Given the description of an element on the screen output the (x, y) to click on. 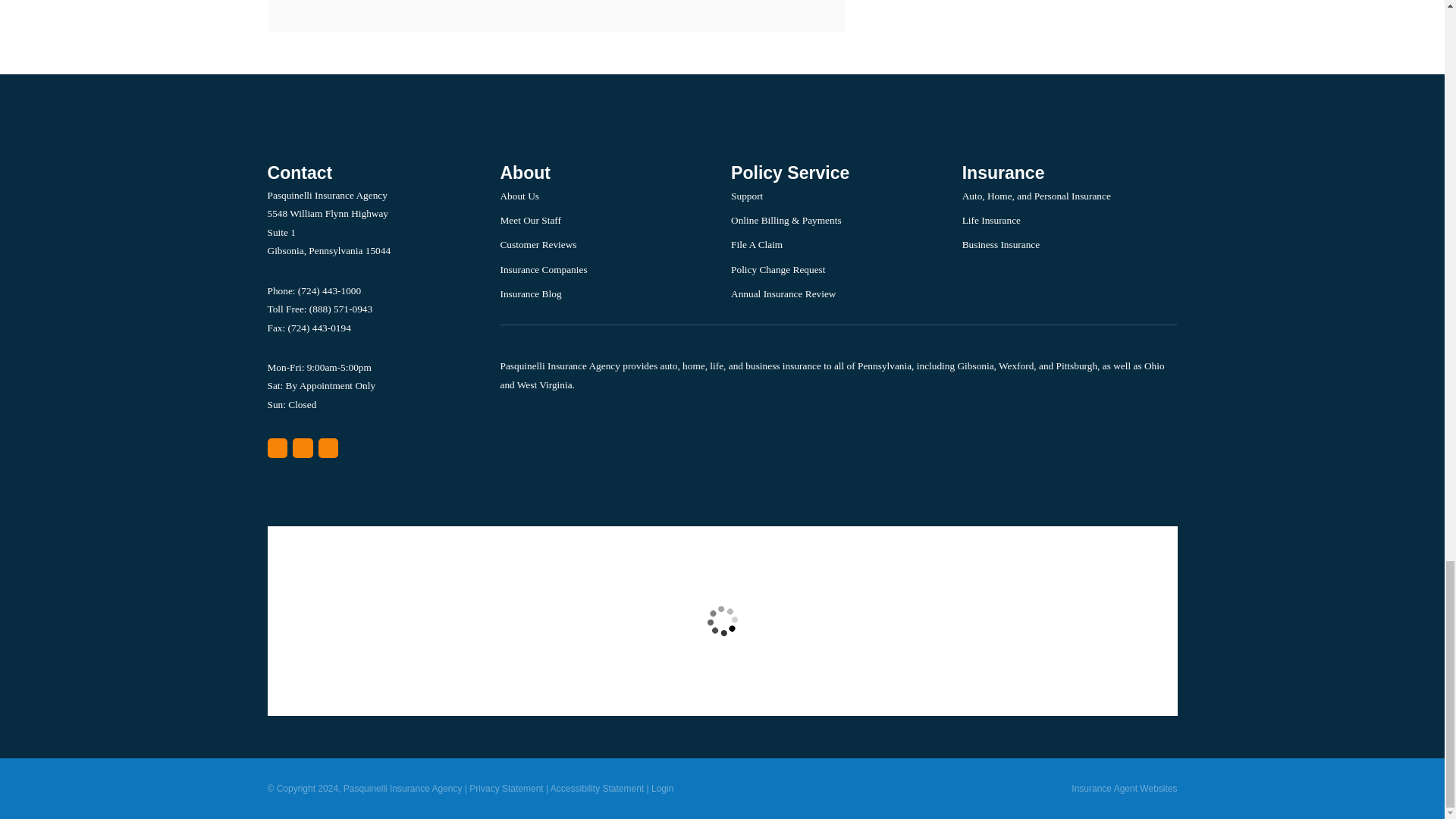
Facebook (328, 448)
Yelp (302, 448)
Google Maps (276, 448)
